Given the description of an element on the screen output the (x, y) to click on. 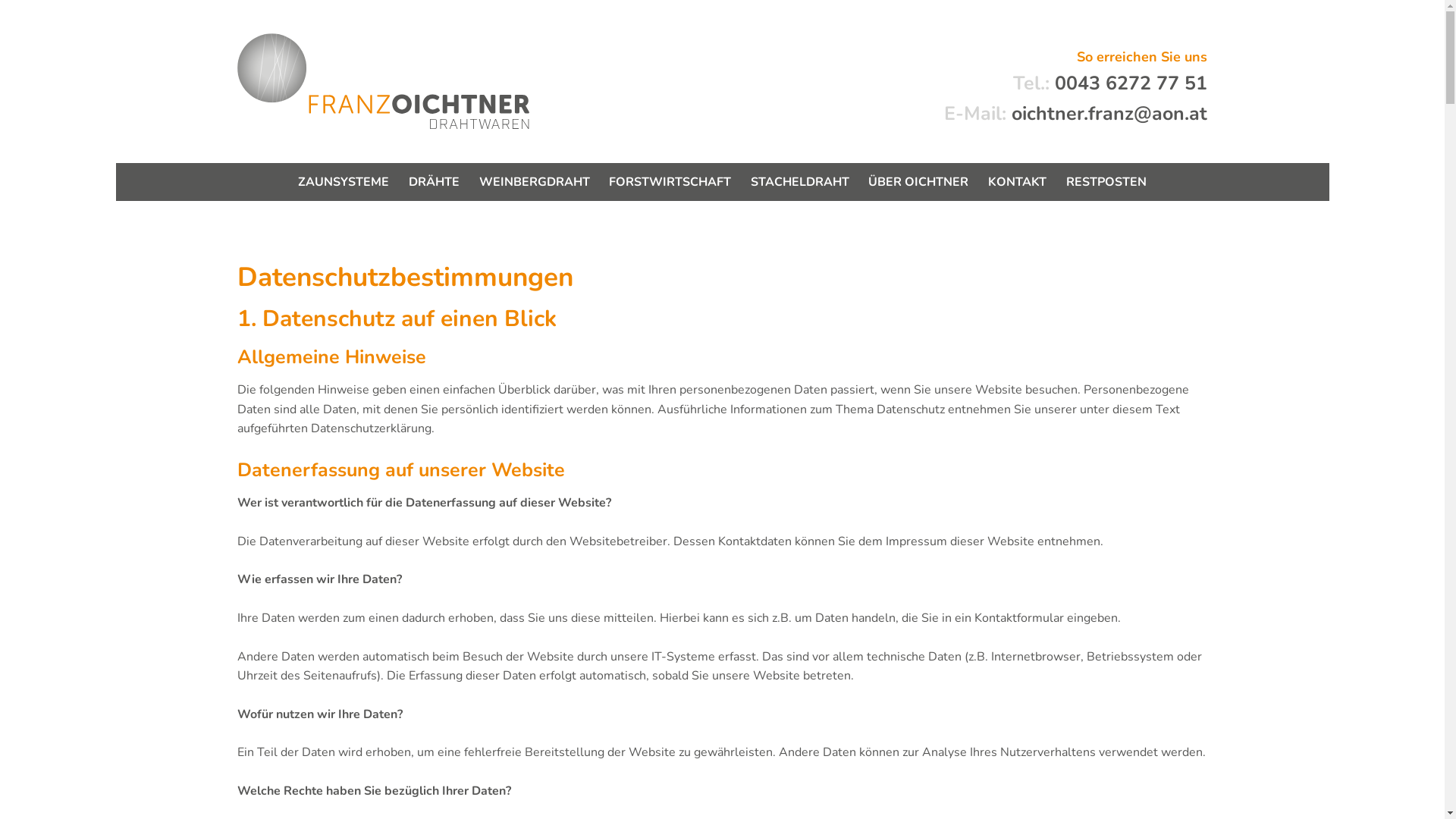
STACHELDRAHT Element type: text (799, 181)
ZAUNSYSTEME Element type: text (343, 181)
FORSTWIRTSCHAFT Element type: text (669, 181)
WEINBERGDRAHT Element type: text (534, 181)
0043 6272 77 51 Element type: text (1130, 83)
RESTPOSTEN Element type: text (1106, 181)
oichtner.franz@aon.at Element type: text (1109, 113)
KONTAKT Element type: text (1017, 181)
Franz Oichtner - Drahtwaren Element type: hover (427, 71)
